Given the description of an element on the screen output the (x, y) to click on. 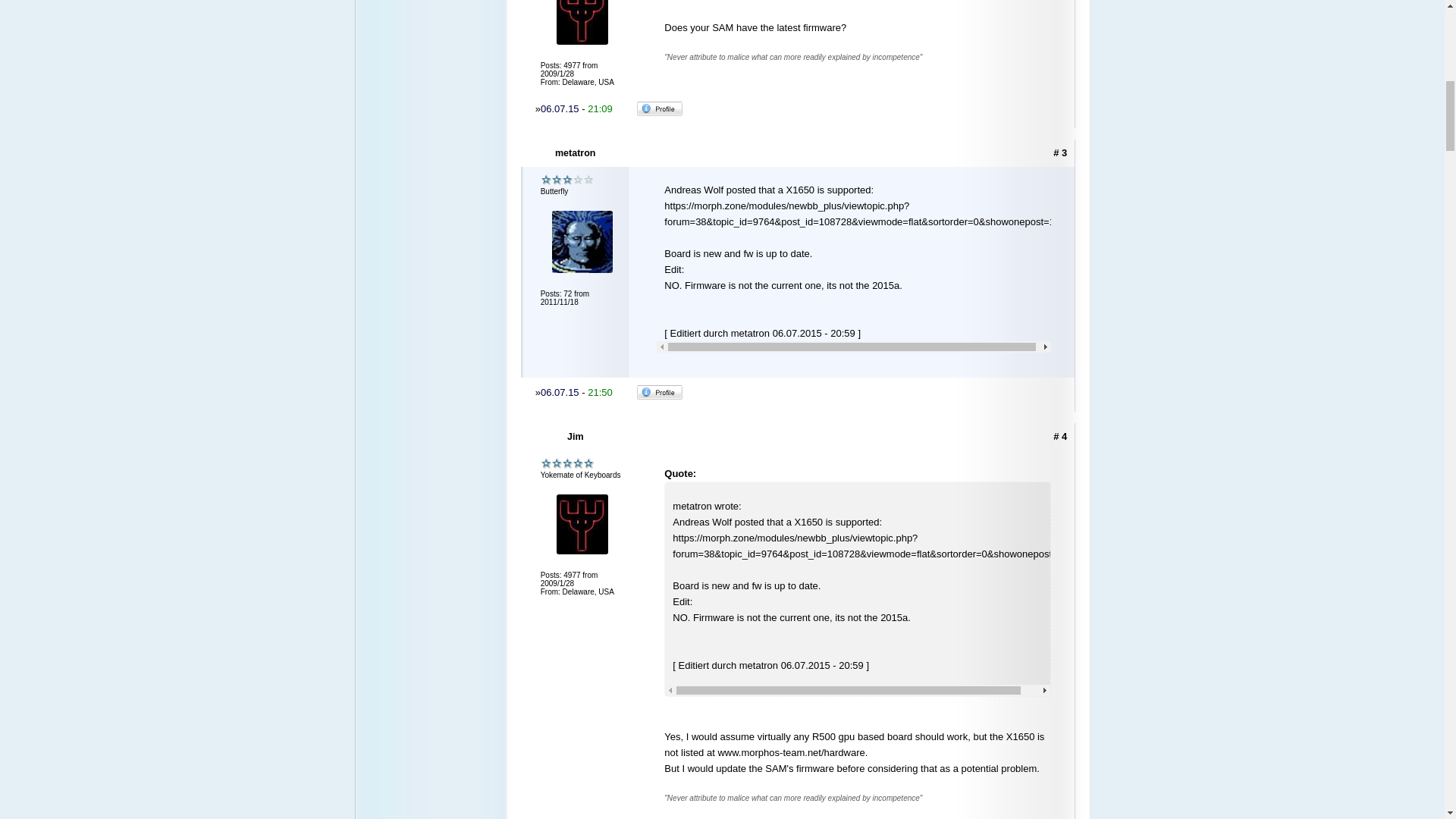
metatron (575, 153)
Show alone this post... (1059, 152)
Show alone this post... (1059, 436)
Butterfly (567, 179)
Yokemate of Keyboards (567, 463)
Jim (575, 436)
